Given the description of an element on the screen output the (x, y) to click on. 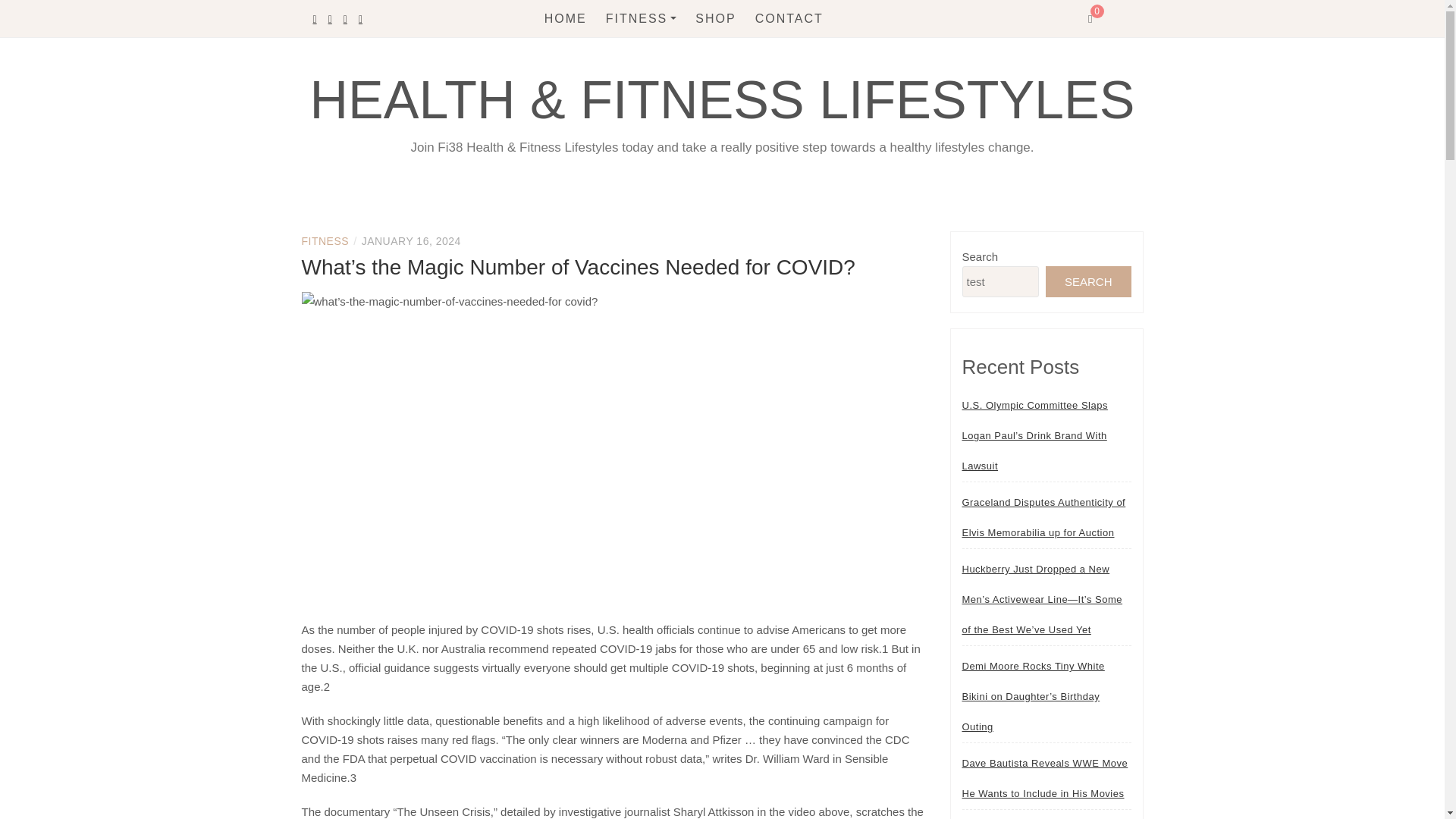
FITNESS (641, 18)
HOME (565, 18)
FITNESS FOODS (689, 115)
SHOP (715, 18)
FITNESS (325, 241)
HEALTH (689, 52)
CONTACT (789, 18)
SEARCH (1088, 281)
FITNESS NEWS (689, 83)
